Given the description of an element on the screen output the (x, y) to click on. 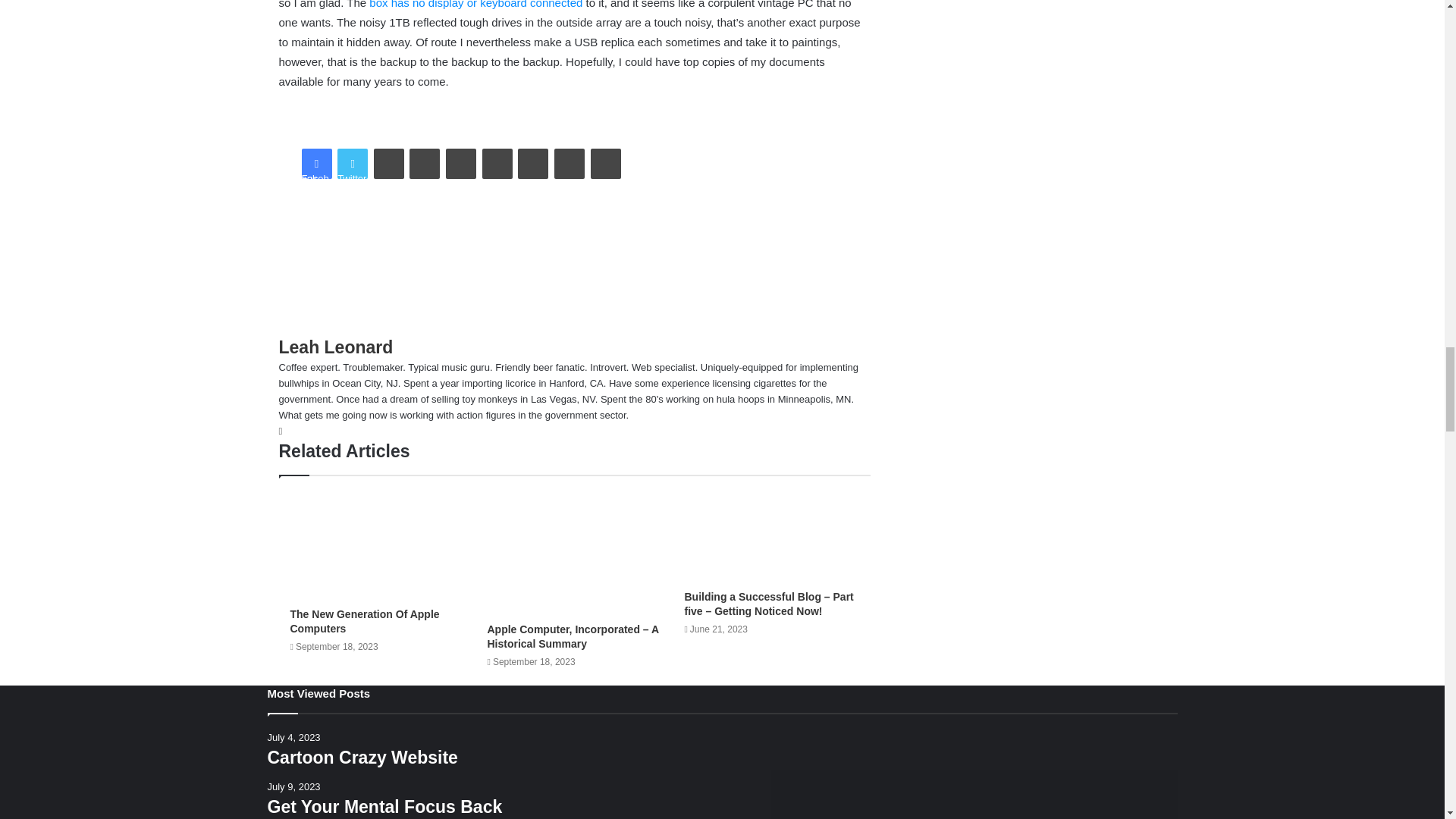
LinkedIn (389, 163)
Pinterest (460, 163)
Reddit (496, 163)
VKontakte (533, 163)
Facebook (316, 163)
Twitter (352, 163)
Tumblr (424, 163)
